Given the description of an element on the screen output the (x, y) to click on. 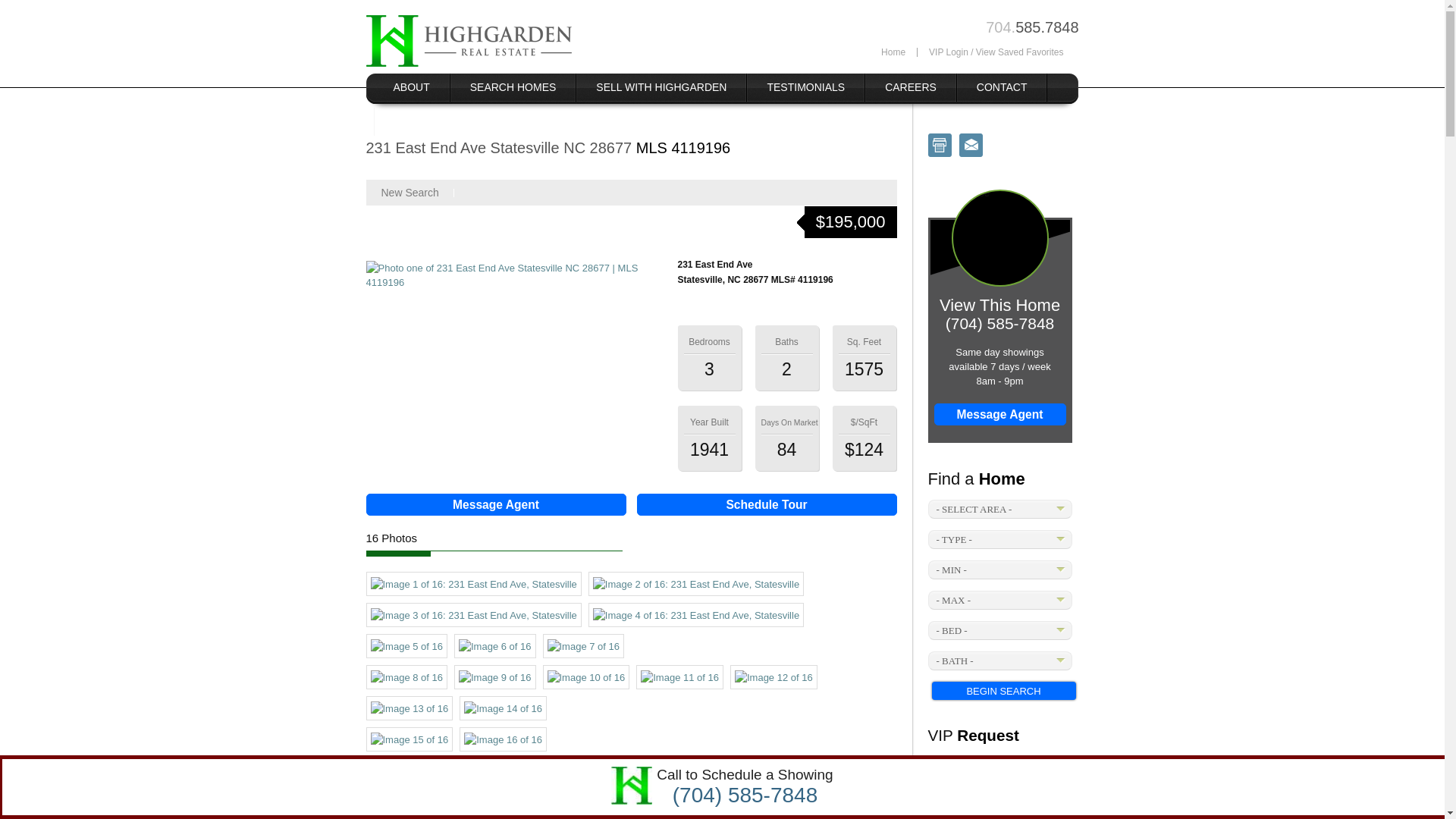
View a larger photo (509, 275)
Highgarden Real Estate Charlotte (467, 40)
Testimonials (805, 87)
TESTIMONIALS (805, 87)
View a larger photo (695, 615)
Mortgages (426, 121)
View a larger photo (472, 584)
New Search (408, 192)
Begin Search (1003, 690)
Sell with Highgarden (661, 87)
Schedule Tour (766, 504)
SEARCH HOMES (512, 87)
Home (893, 51)
Message Agent (495, 504)
SELL WITH HIGHGARDEN (661, 87)
